Given the description of an element on the screen output the (x, y) to click on. 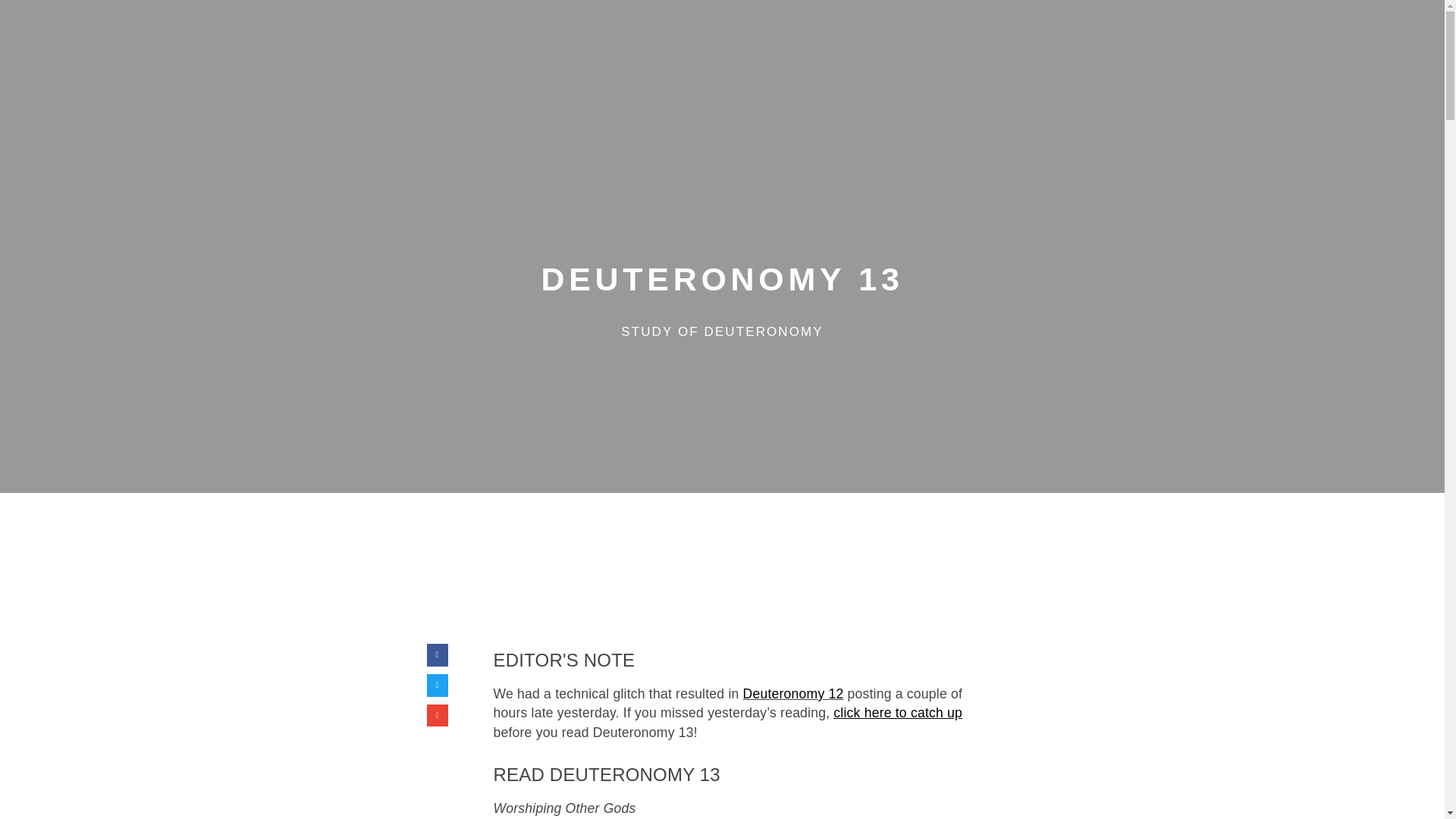
Deuteronomy 12 (793, 693)
click here to catch up (897, 712)
